Given the description of an element on the screen output the (x, y) to click on. 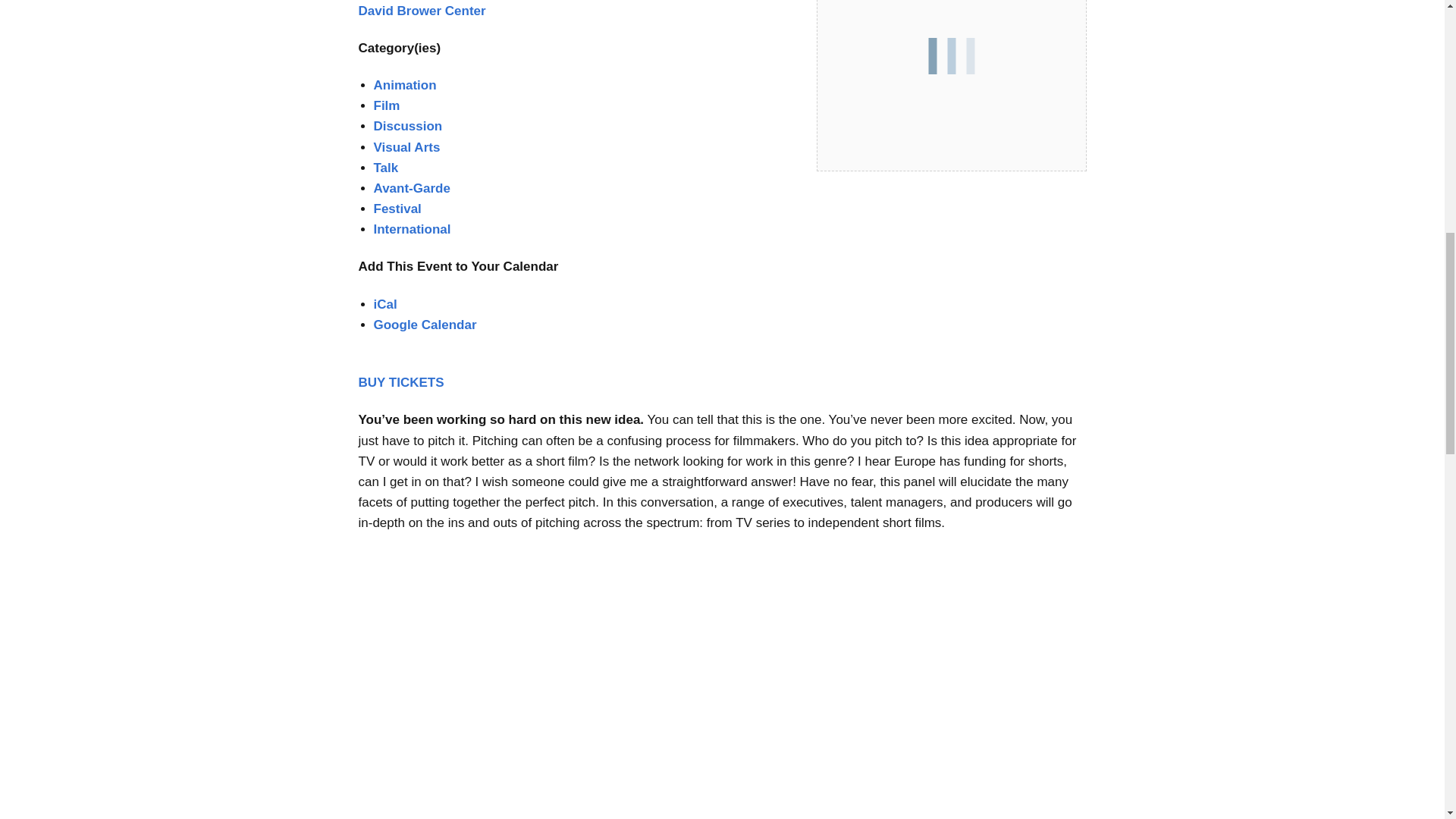
David Brower Center (421, 11)
Visual Arts (405, 147)
Talk (384, 167)
iCal (384, 304)
Film (385, 105)
Google Calendar (424, 324)
Animation (403, 84)
BUY TICKETS (401, 382)
Festival (396, 208)
Avant-Garde (410, 187)
